Given the description of an element on the screen output the (x, y) to click on. 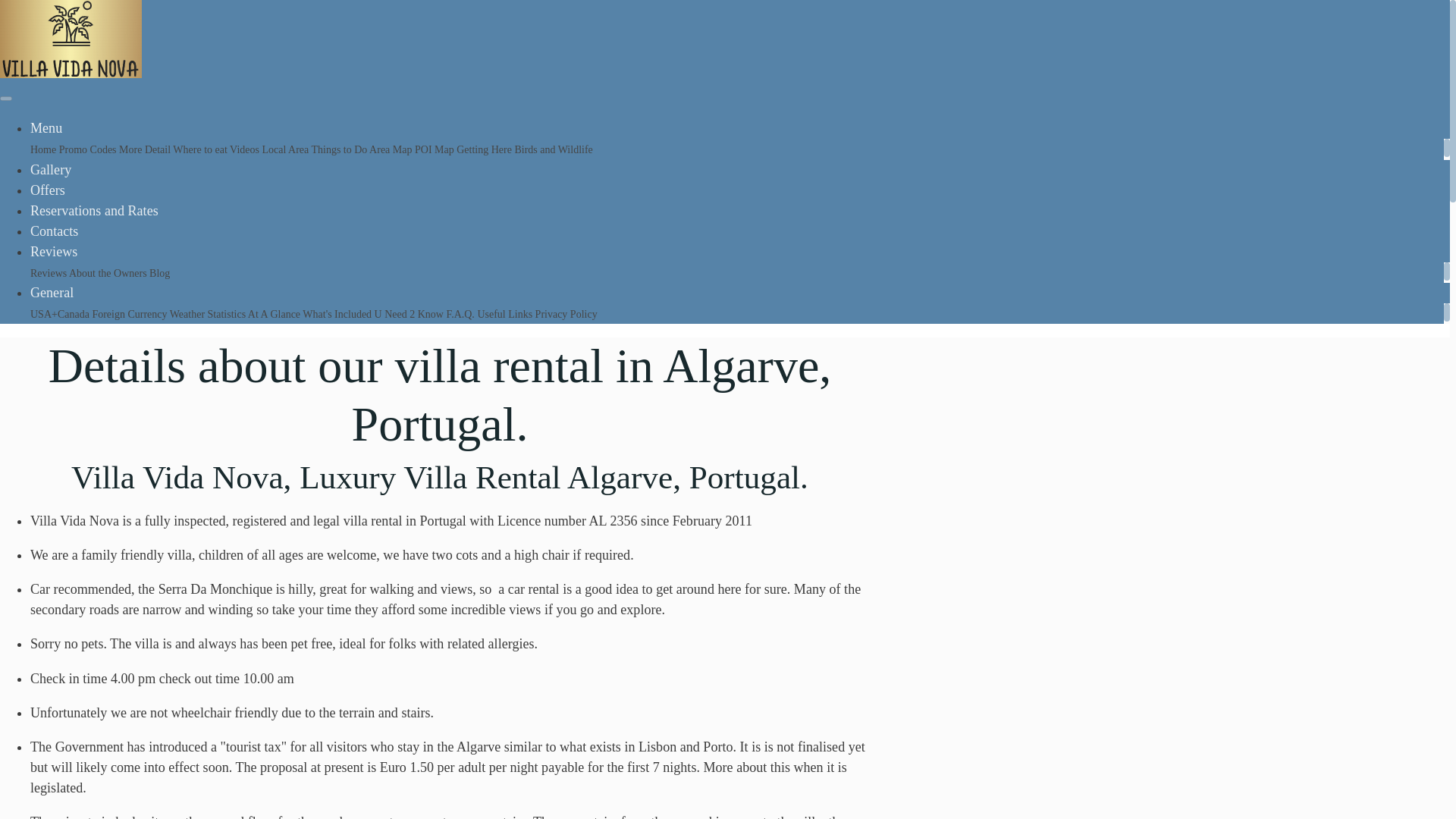
What's Included (338, 314)
U Need 2 Know (410, 314)
Reservations and Rates (94, 210)
Home (44, 149)
Birds and Wildlife (552, 149)
At A Glance (274, 314)
Videos (246, 149)
Privacy Policy (565, 314)
Foreign Currency (129, 314)
Getting Here (485, 149)
General (52, 292)
F.A.Q. (461, 314)
Offers (47, 190)
POI Map (435, 149)
Where to eat (201, 149)
